Given the description of an element on the screen output the (x, y) to click on. 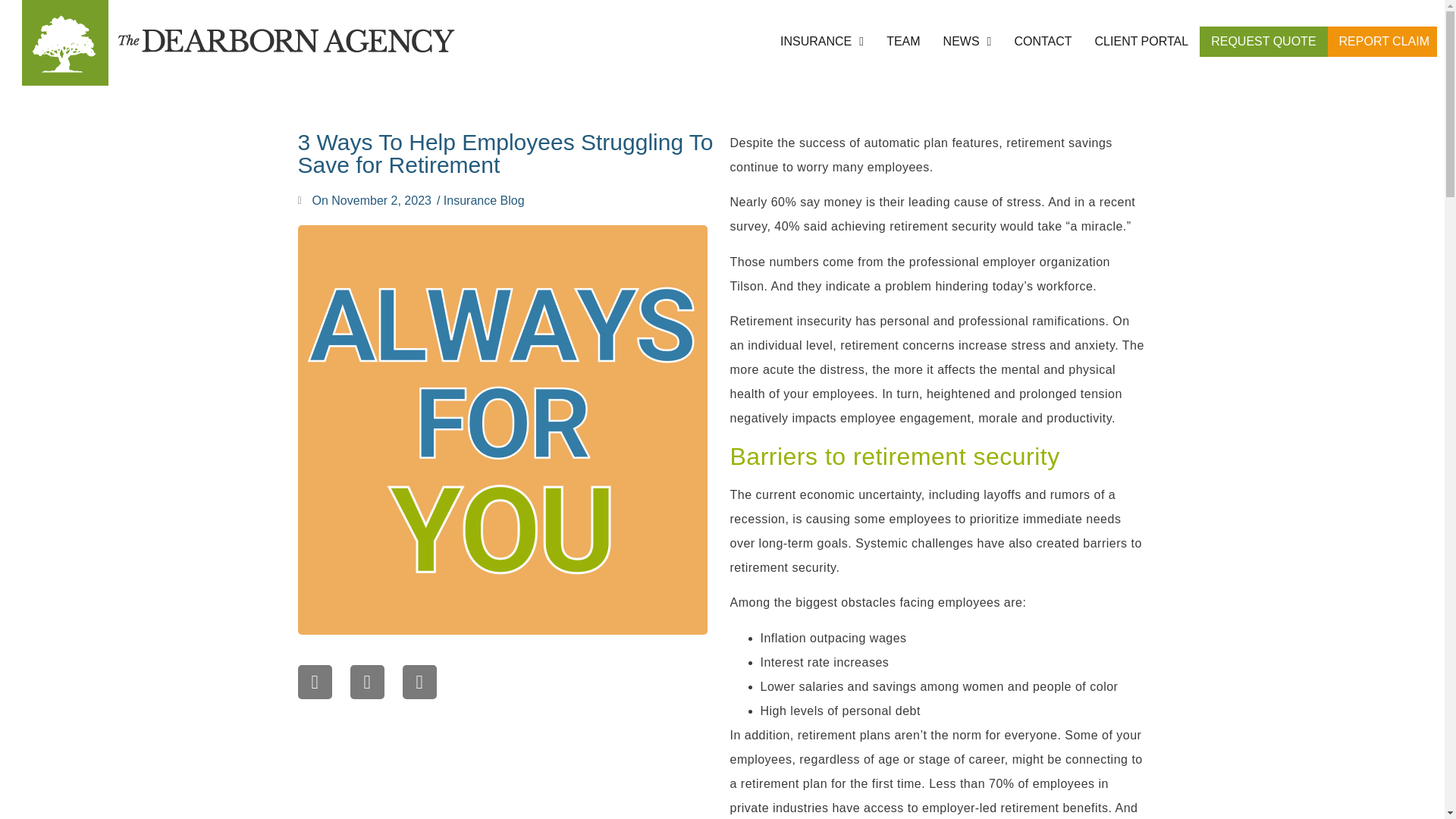
INSURANCE (821, 40)
CONTACT (1042, 40)
CLIENT PORTAL (1141, 40)
REQUEST QUOTE (1263, 40)
NEWS (967, 40)
REPORT CLAIM (1384, 40)
TEAM (903, 40)
